Given the description of an element on the screen output the (x, y) to click on. 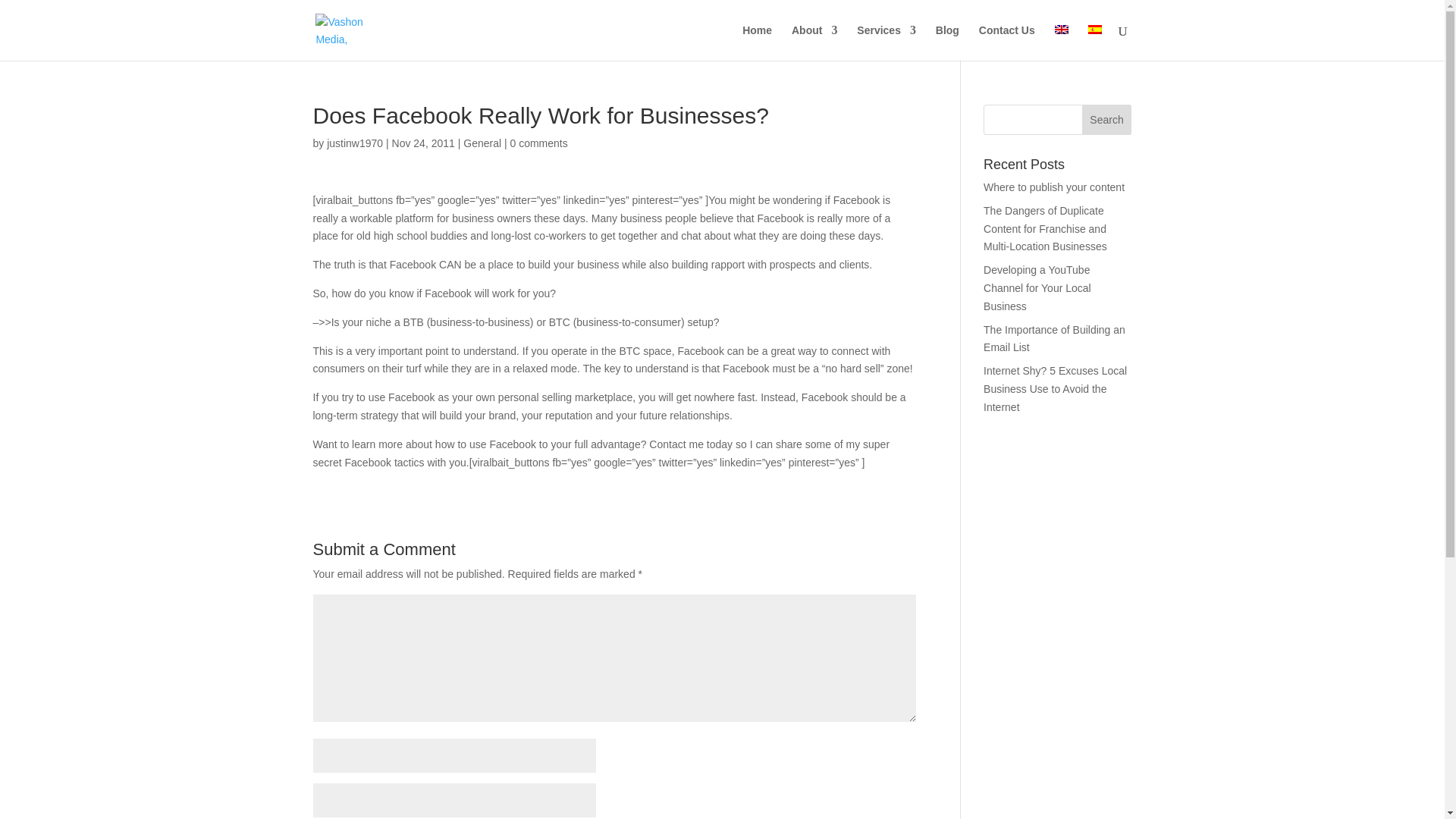
Search (1106, 119)
Services (886, 42)
justinw1970 (354, 143)
Search (1106, 119)
Contact Us (1006, 42)
About (814, 42)
Posts by justinw1970 (354, 143)
Where to publish your content (1054, 186)
